Given the description of an element on the screen output the (x, y) to click on. 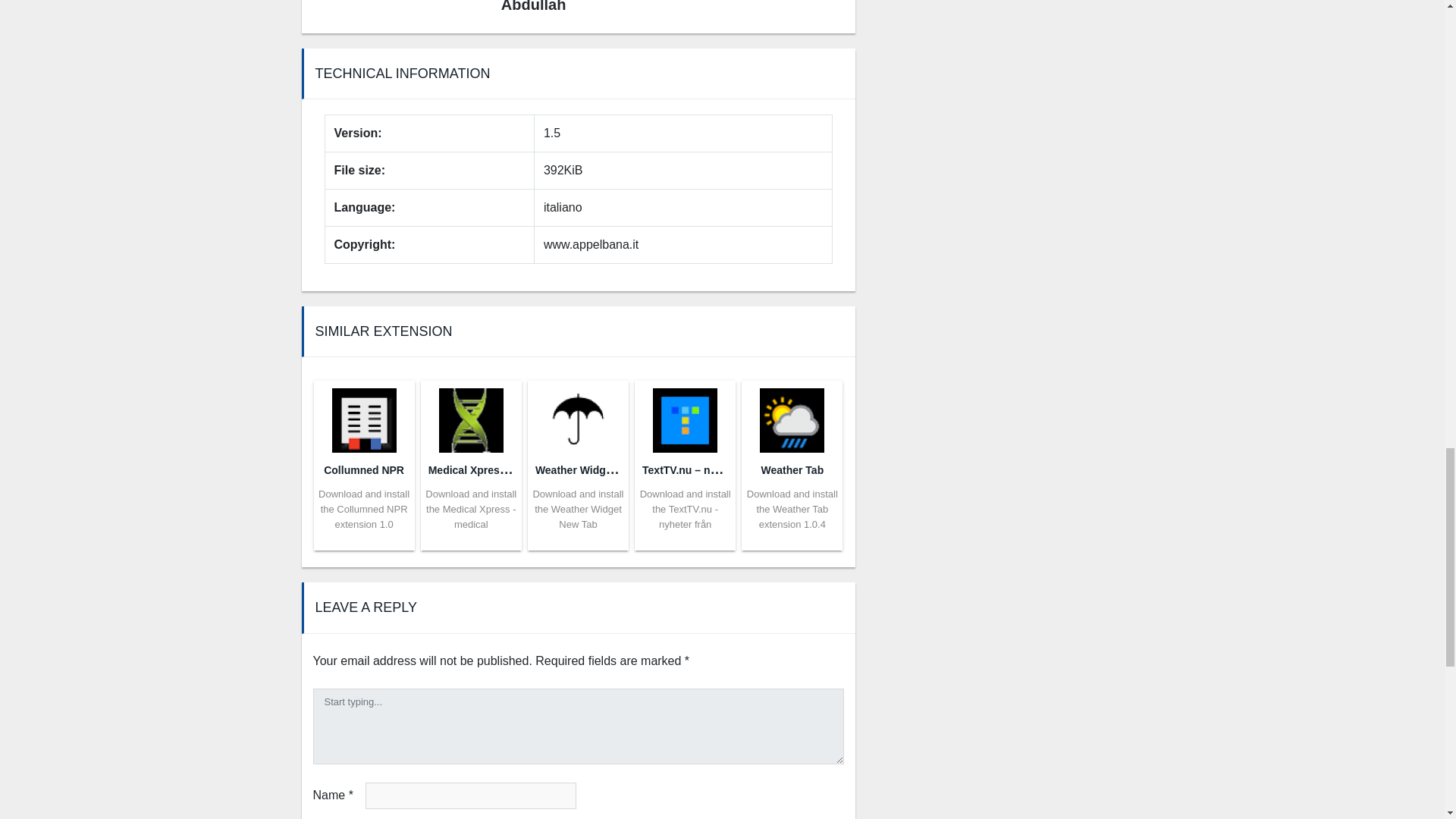
Download and install the Medical Xpress - medical (470, 508)
Collumned NPR (363, 415)
Weather Widget New Tab Page (611, 468)
Collumned NPR (363, 469)
Download and install the Collumned NPR extension 1.0 (363, 508)
Collumned NPR (363, 469)
